Given the description of an element on the screen output the (x, y) to click on. 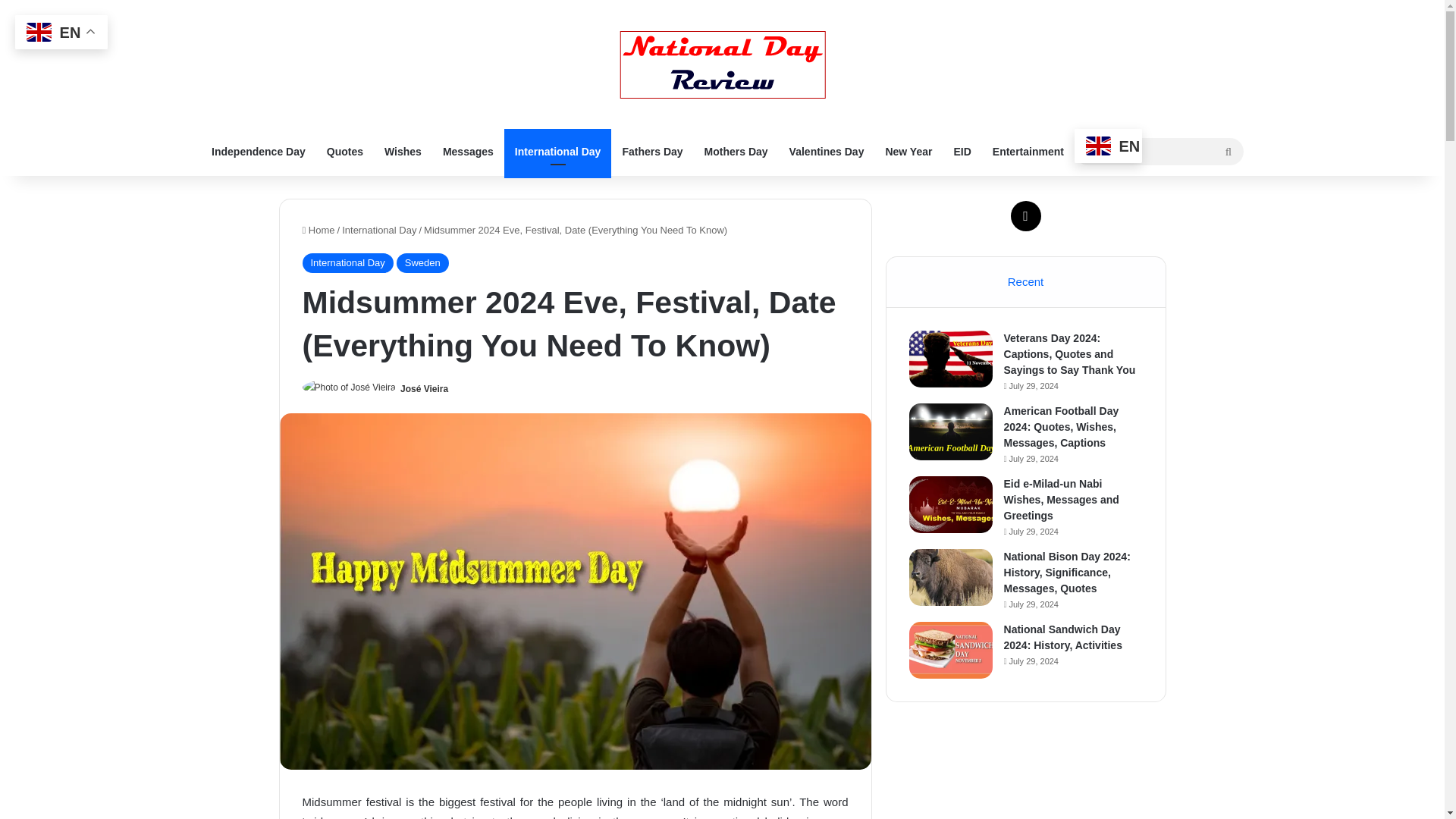
Fathers Day (652, 151)
International Day (379, 229)
Search for (1158, 150)
Entertainment (1027, 151)
Mothers Day (736, 151)
National Day Review (721, 64)
Home (317, 229)
Messages (467, 151)
Sweden (422, 262)
Independence Day (257, 151)
Quotes (344, 151)
Search for (1227, 151)
New Year (908, 151)
International Day (557, 151)
Valentines Day (826, 151)
